Given the description of an element on the screen output the (x, y) to click on. 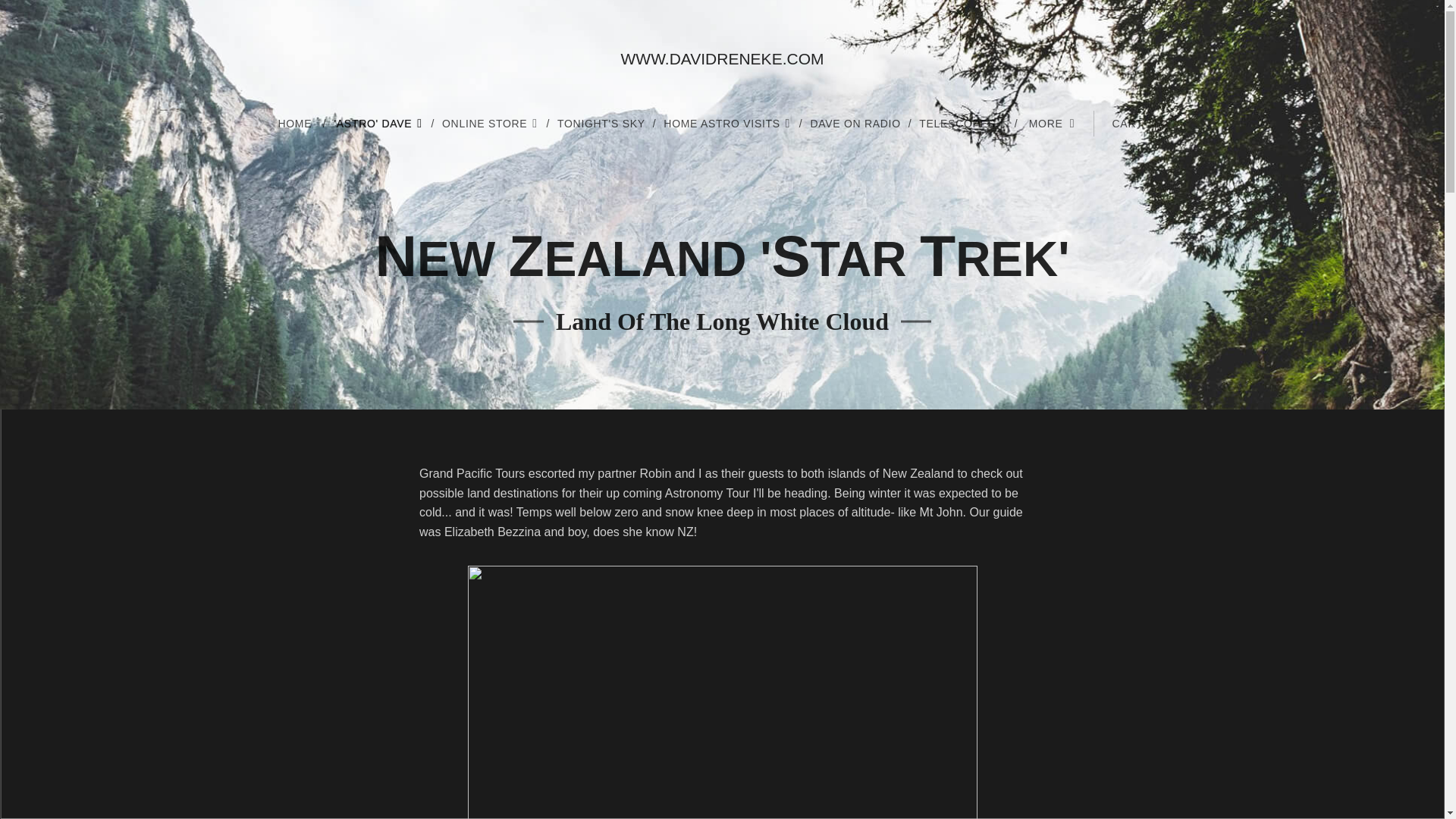
DAVE ON RADIO (856, 123)
CART (1130, 123)
ONLINE STORE (491, 123)
HOME (302, 123)
WWW.DAVIDRENEKE.COM (722, 58)
TELESCOPES (964, 123)
TONIGHT'S SKY (603, 123)
HOME ASTRO VISITS (729, 123)
'ASTRO' DAVE (379, 123)
